Given the description of an element on the screen output the (x, y) to click on. 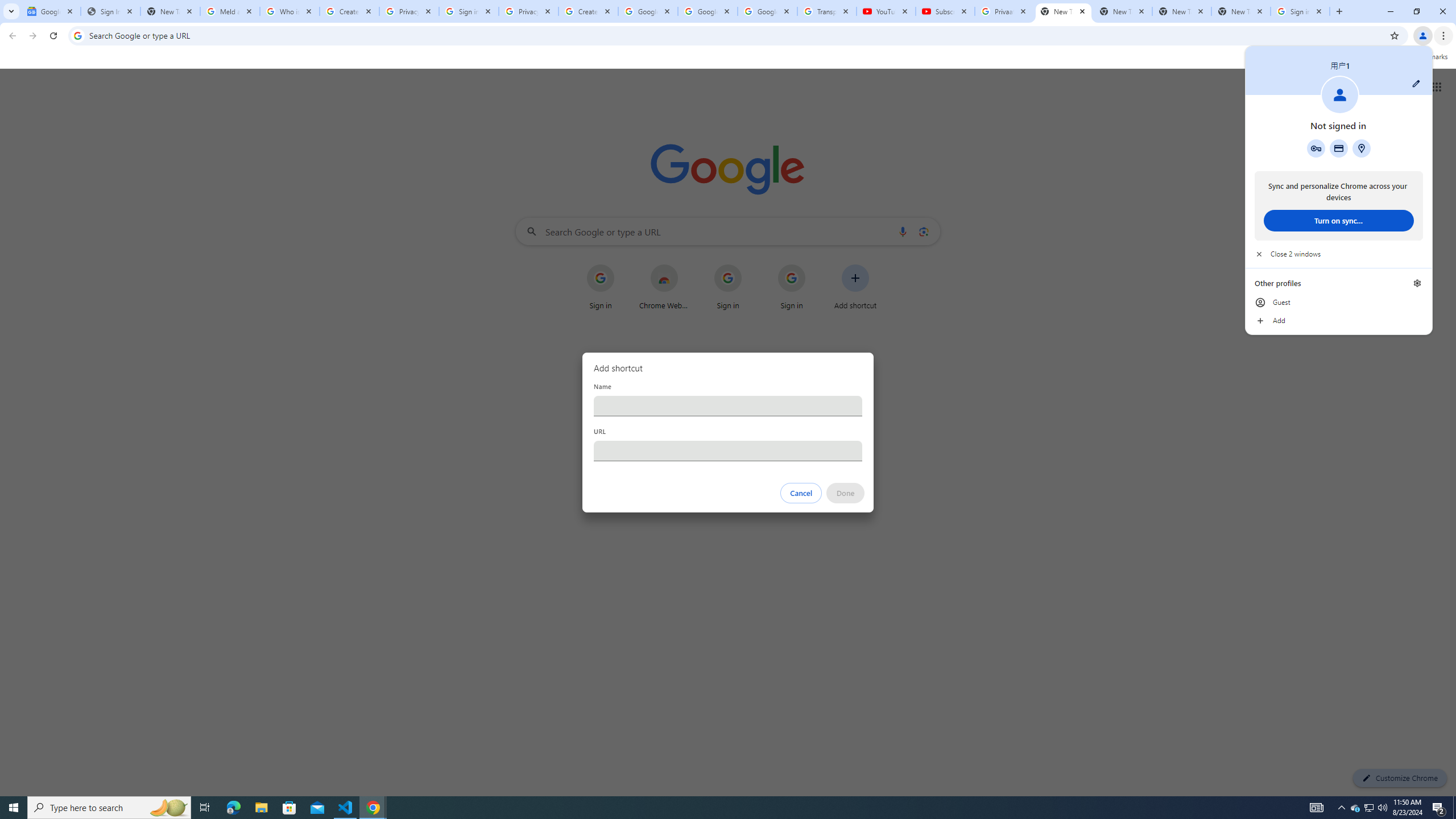
Done (845, 493)
Sign in - Google Accounts (468, 11)
Sign in - Google Accounts (1300, 11)
Create your Google Account (588, 11)
Google Password Manager (1315, 148)
Manage profiles (1417, 283)
User Promoted Notification Area (1368, 807)
Name (727, 405)
Running applications (717, 807)
Google News (50, 11)
New Tab (1063, 11)
Q2790: 100% (1382, 807)
